Given the description of an element on the screen output the (x, y) to click on. 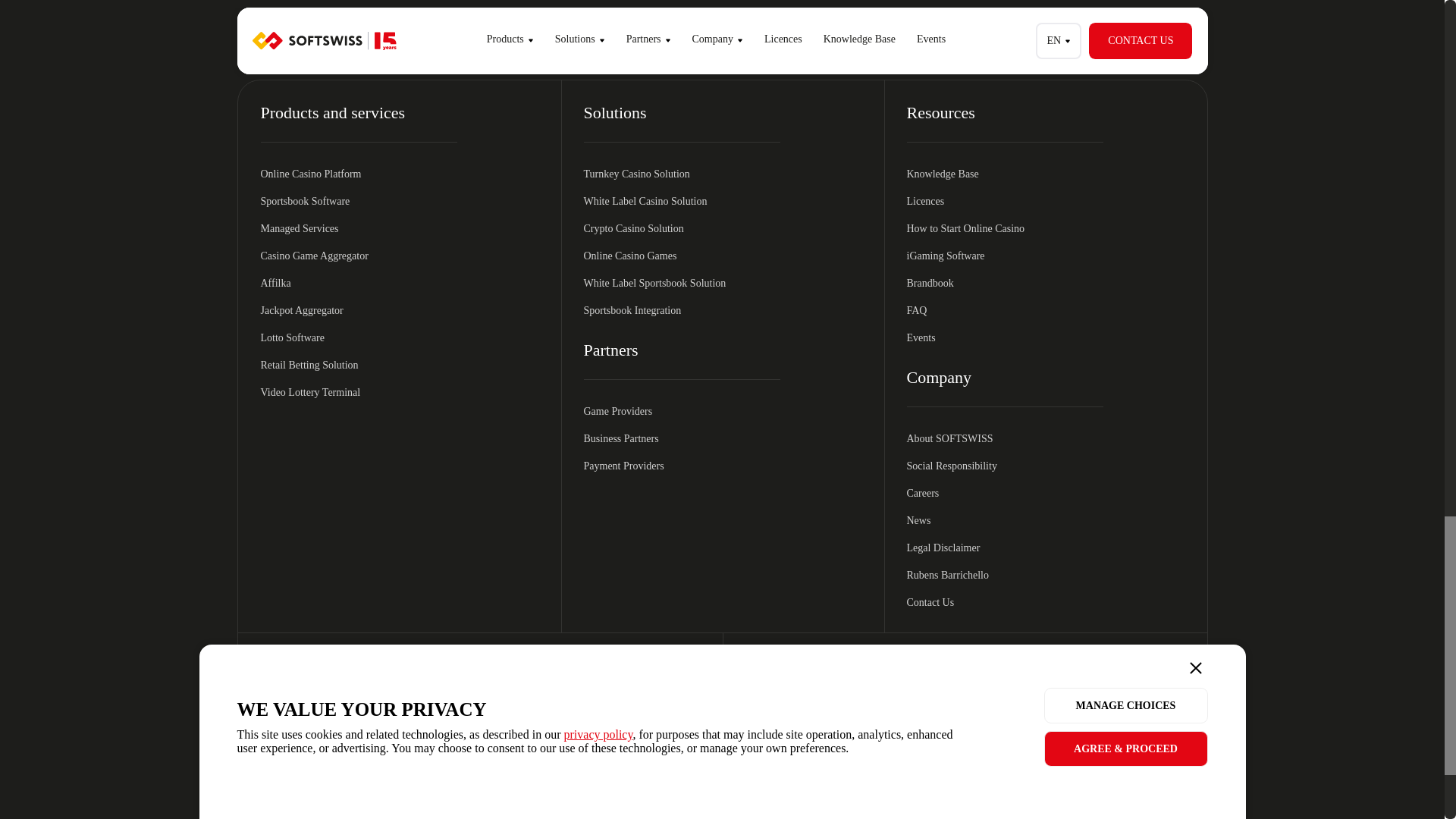
Twitter (1131, 671)
Facebook (1017, 671)
Youtube (1055, 671)
Linkedin (978, 671)
Instagram (1093, 671)
Medium (1169, 671)
